Given the description of an element on the screen output the (x, y) to click on. 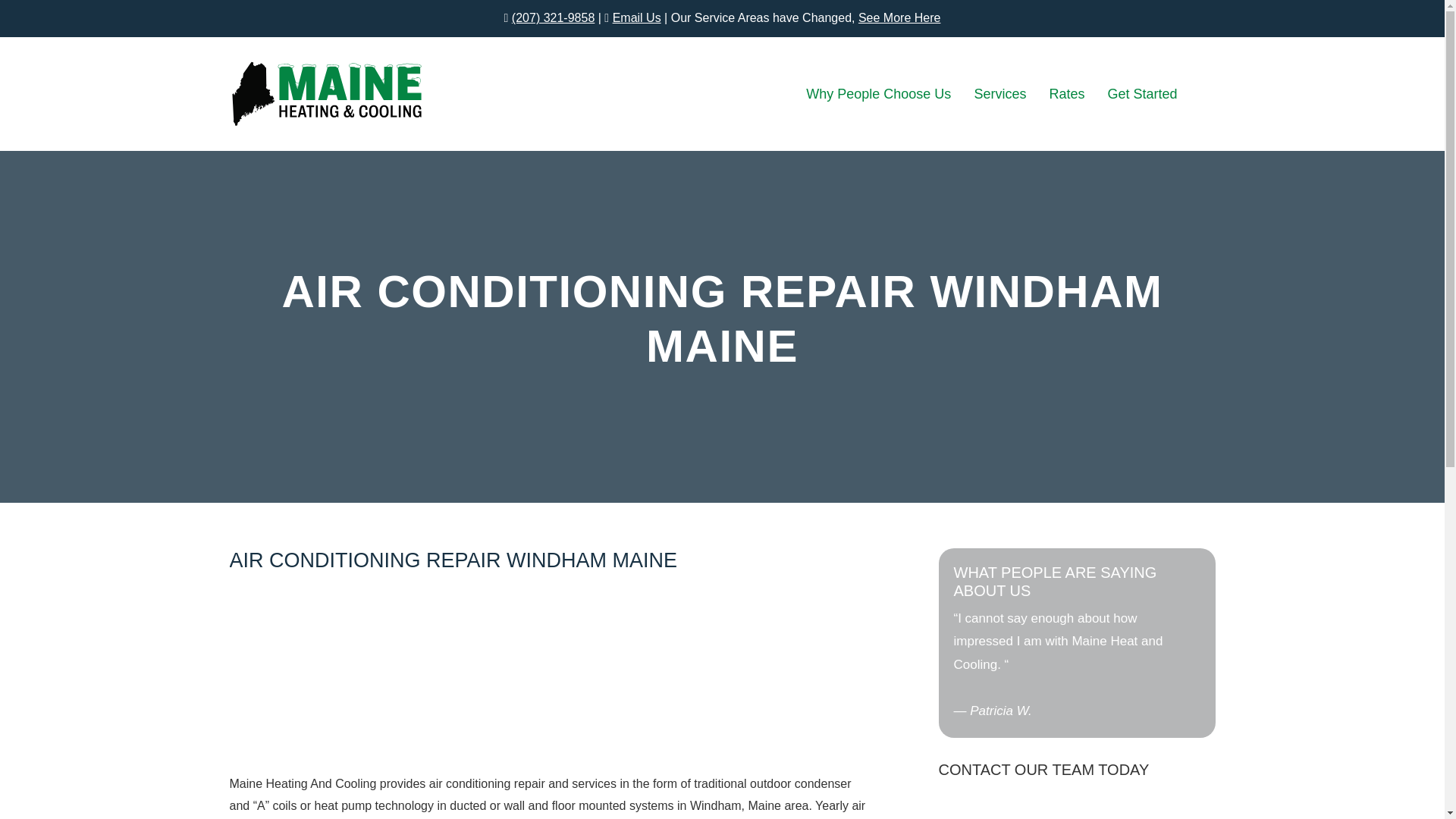
Get Started (1136, 93)
Rates (1066, 93)
Email Us (636, 17)
Services (999, 93)
Why People Choose Us (884, 93)
See More Here (899, 17)
